Given the description of an element on the screen output the (x, y) to click on. 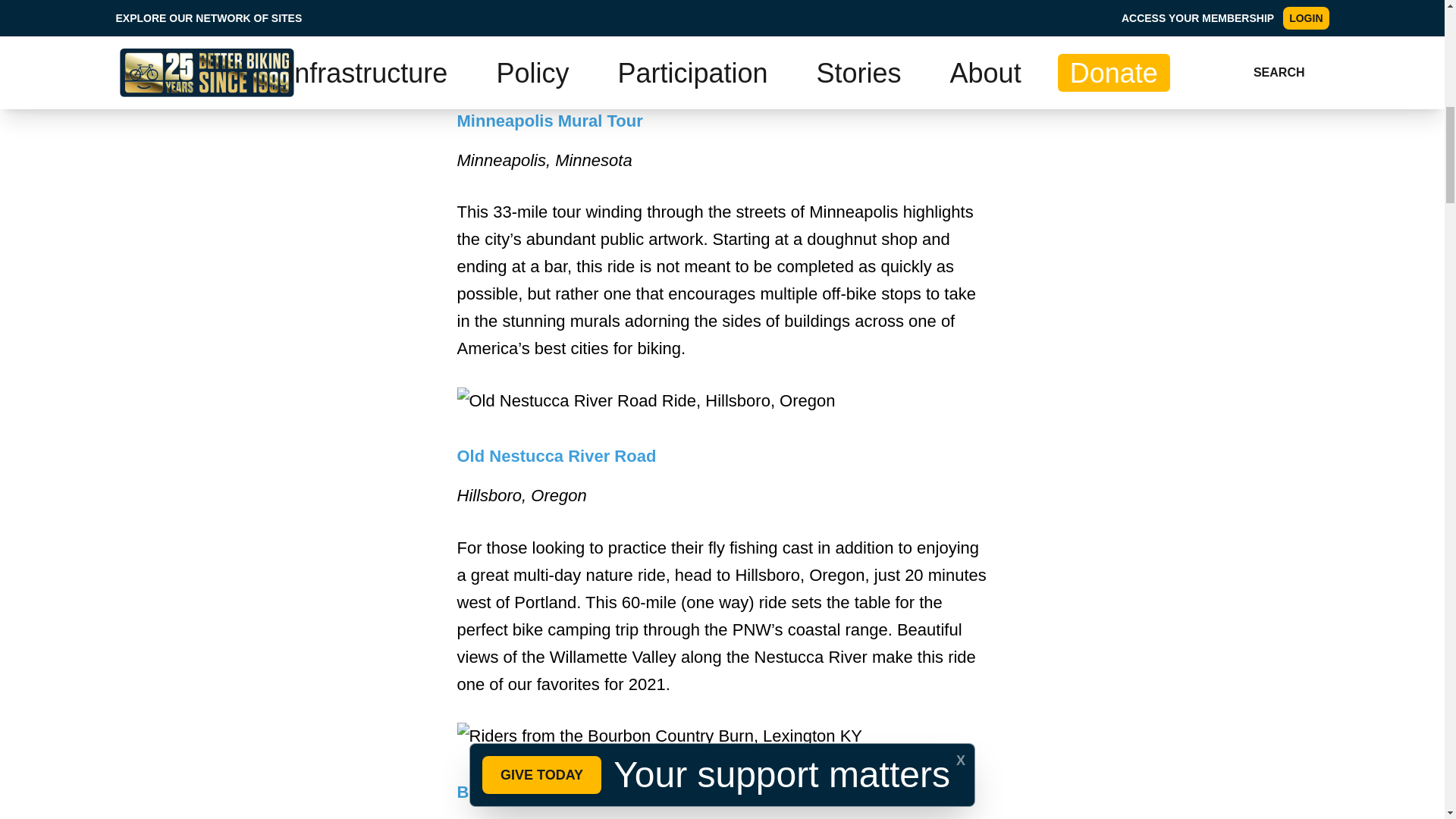
Minneapolis Mural Tour (549, 120)
Bourbon Country Burn (548, 791)
Old Nestucca River Road (556, 456)
